Given the description of an element on the screen output the (x, y) to click on. 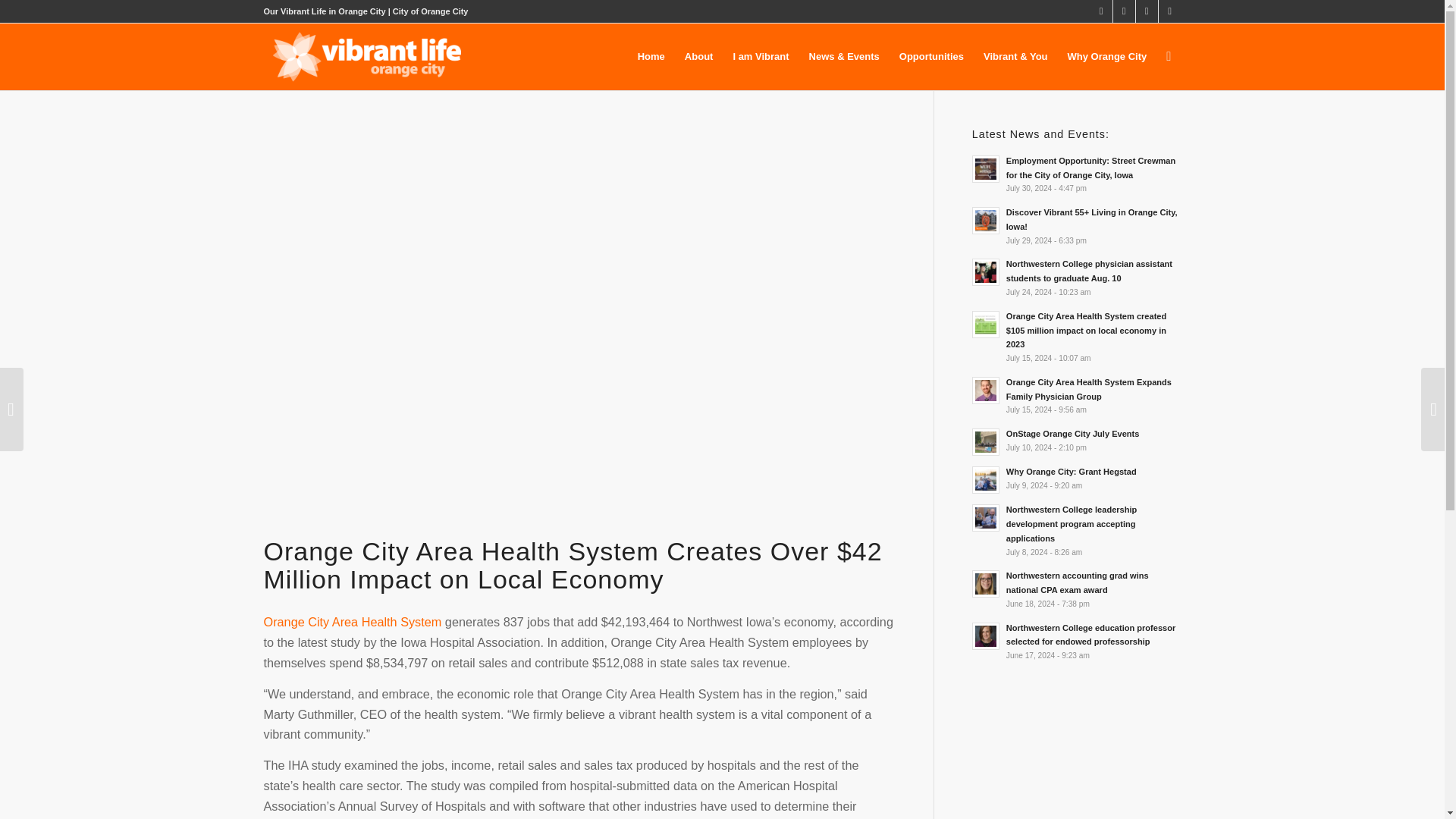
Opportunities (931, 56)
Facebook (1124, 11)
X (1101, 11)
Why Orange City (1107, 56)
Our Vibrant Life in Orange City (324, 10)
Youtube (1169, 11)
City of Orange City (430, 10)
I am Vibrant (759, 56)
Orange City Area Health System (352, 621)
